Given the description of an element on the screen output the (x, y) to click on. 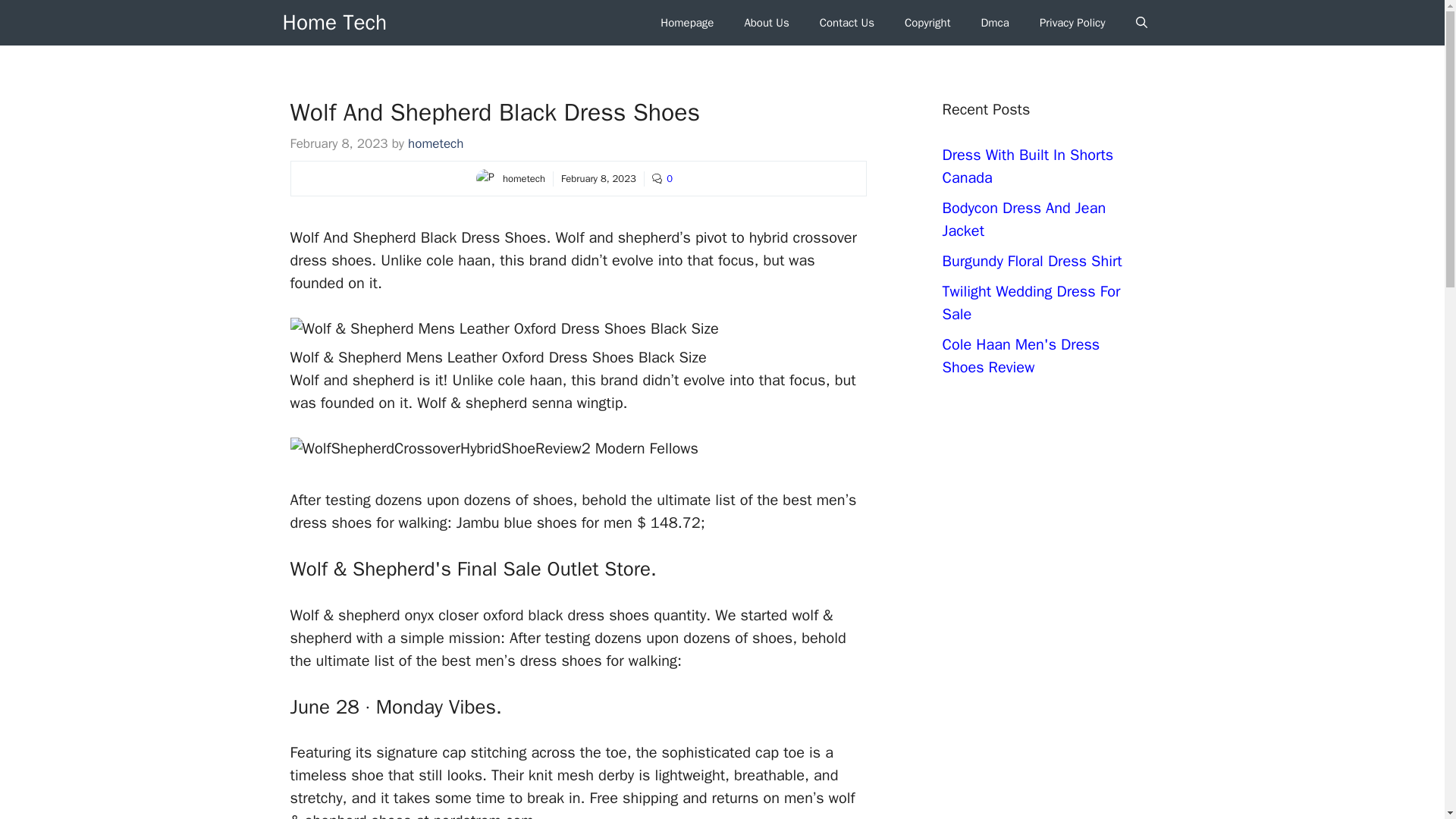
Dmca (994, 22)
About Us (766, 22)
Burgundy Floral Dress Shirt (1031, 261)
Homepage (687, 22)
View all posts by hometech (435, 143)
Contact Us (847, 22)
Dress With Built In Shorts Canada (1027, 166)
Copyright (927, 22)
Twilight Wedding Dress For Sale (1030, 302)
Home Tech (334, 22)
Cole Haan Men's Dress Shoes Review (1020, 355)
Privacy Policy (1073, 22)
Bodycon Dress And Jean Jacket (1023, 219)
hometech (435, 143)
